Given the description of an element on the screen output the (x, y) to click on. 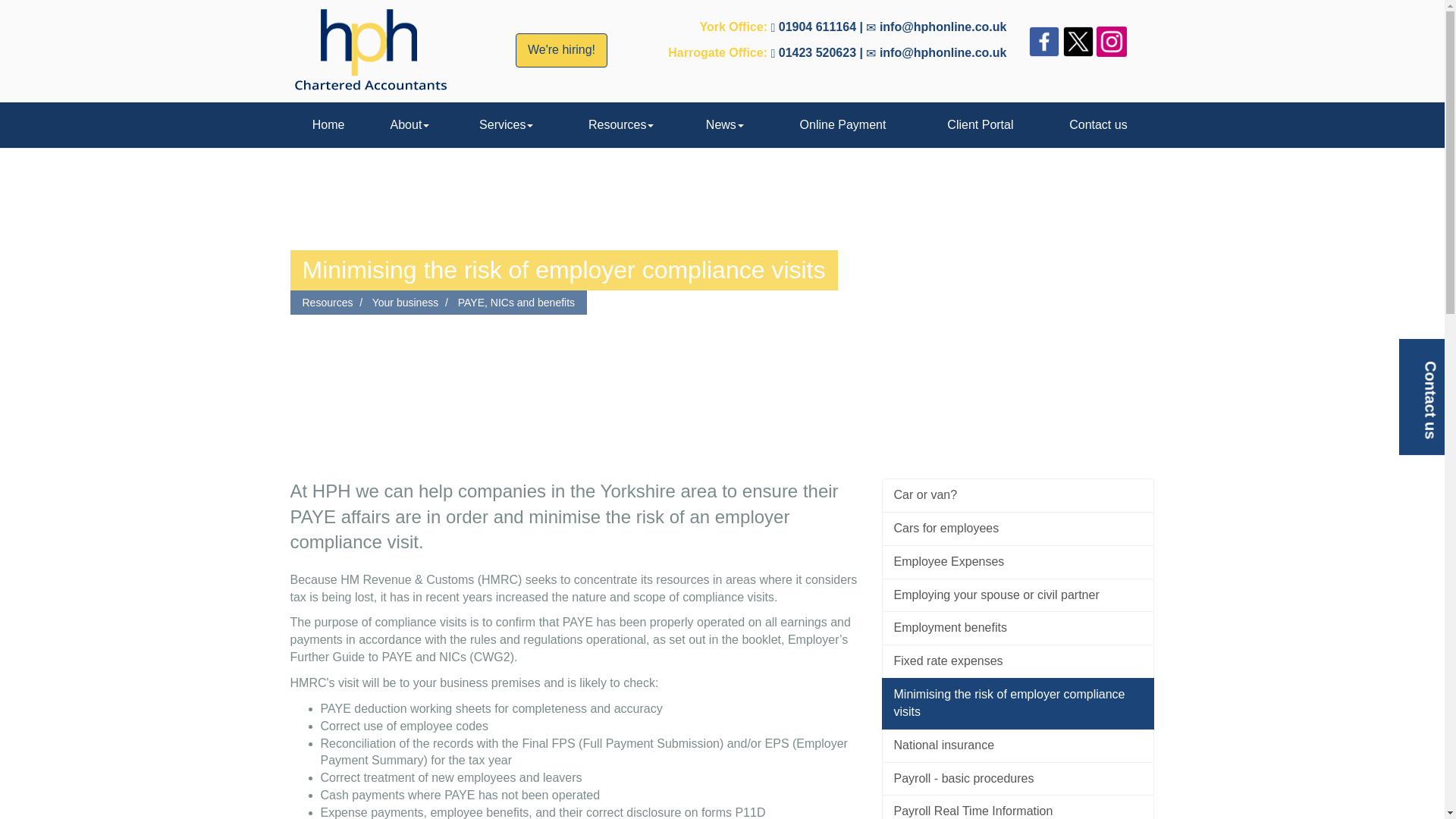
01904 611164 (817, 26)
Home (327, 125)
Services (505, 125)
News (724, 125)
01423 520623 (817, 51)
Services (505, 125)
About (409, 125)
Resources (620, 125)
Resources (620, 125)
Online Payment (842, 125)
Home (327, 125)
We're hiring! (561, 50)
About (409, 125)
Technical (561, 50)
